Given the description of an element on the screen output the (x, y) to click on. 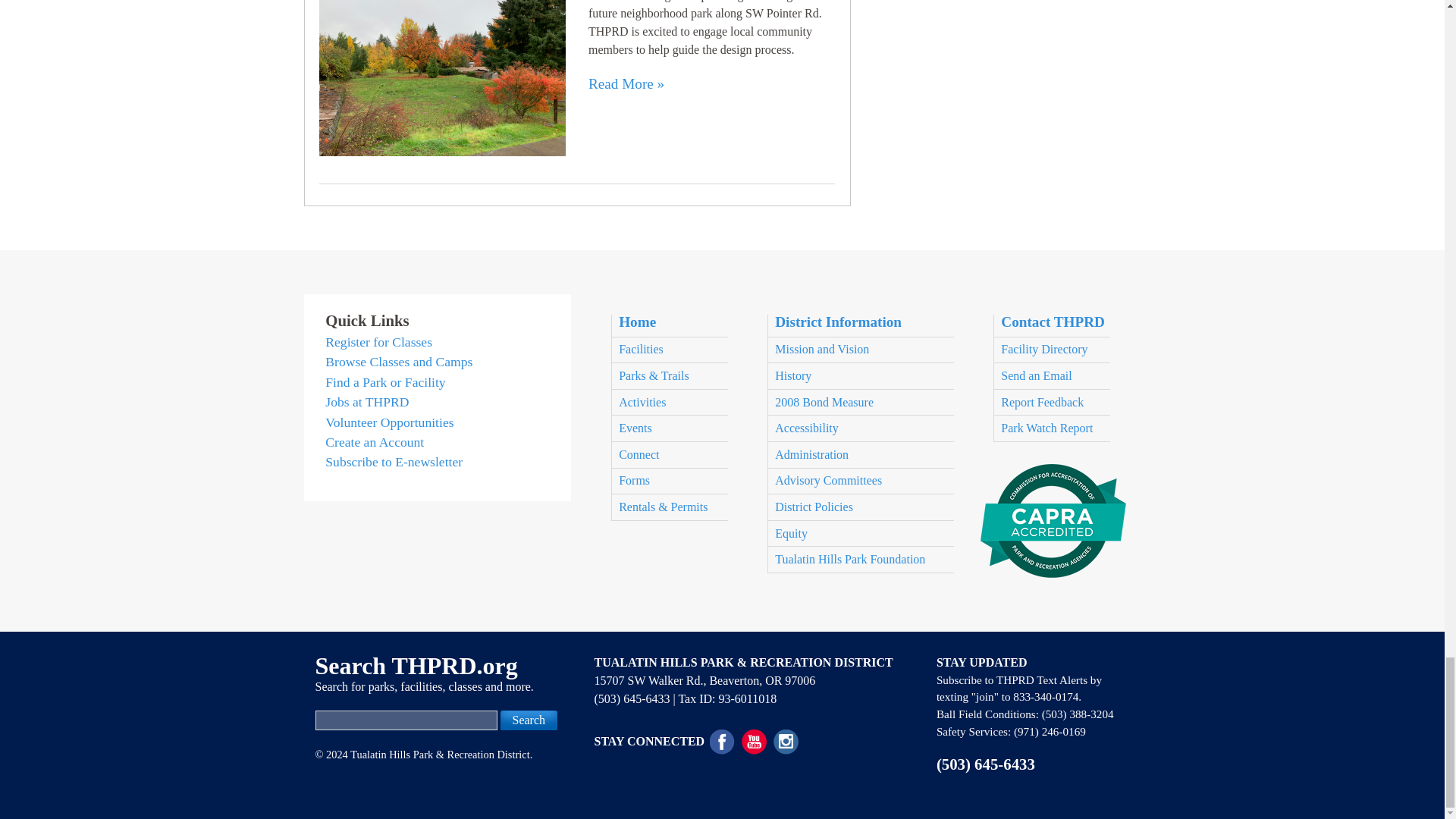
Search (528, 720)
Search (528, 720)
